Given the description of an element on the screen output the (x, y) to click on. 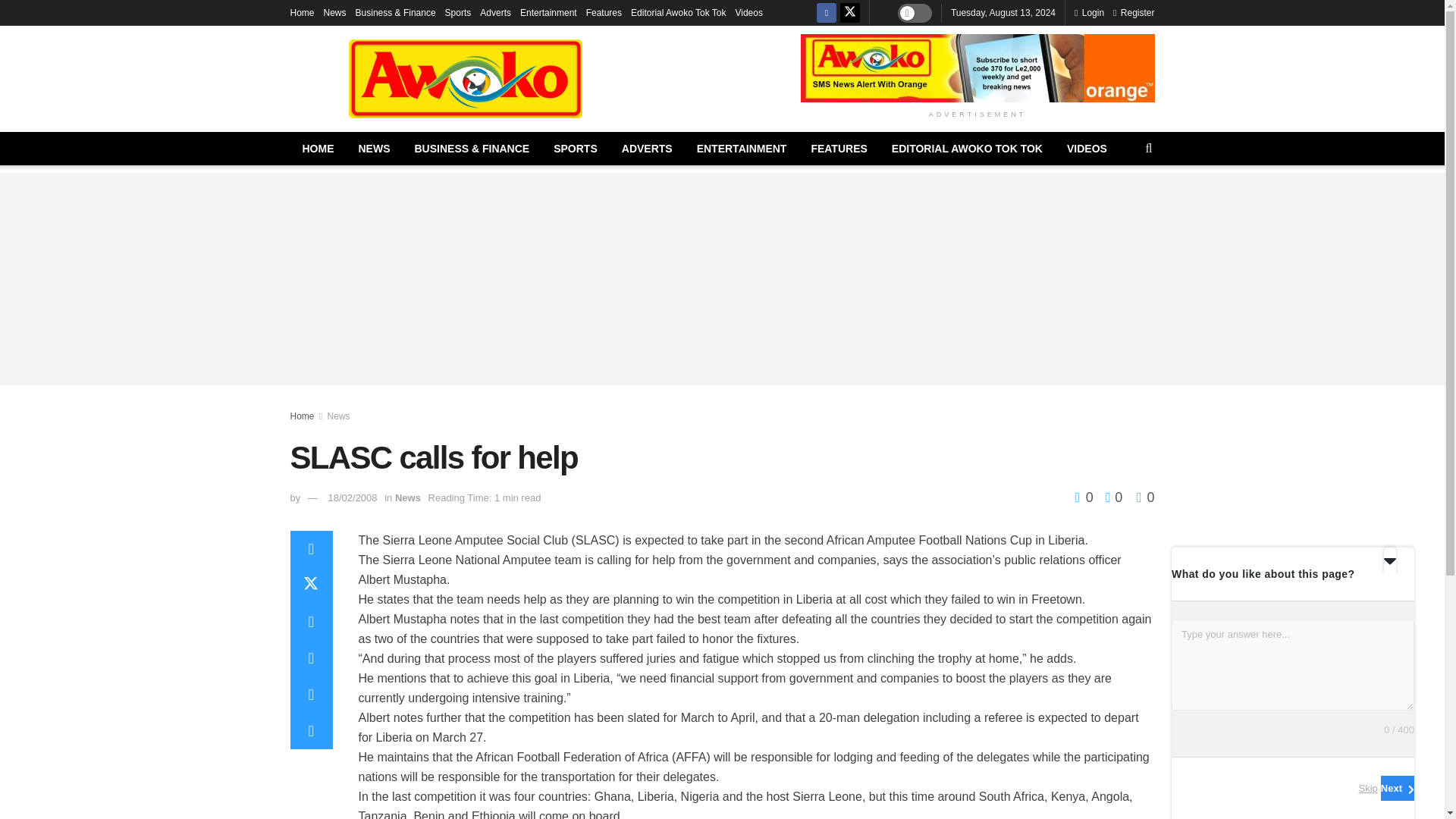
Features (603, 12)
NEWS (373, 148)
ENTERTAINMENT (741, 148)
Register (1133, 12)
Videos (748, 12)
HOME (317, 148)
Home (301, 12)
Sports (458, 12)
EDITORIAL AWOKO TOK TOK (966, 148)
